Given the description of an element on the screen output the (x, y) to click on. 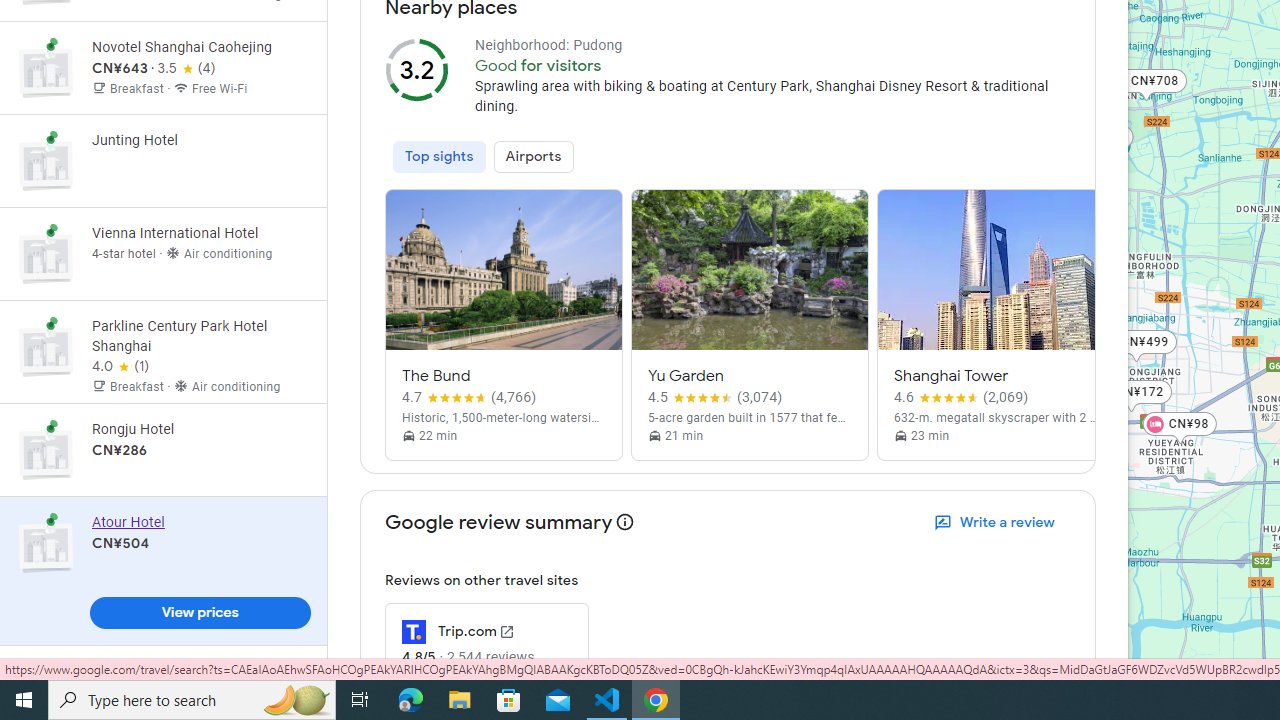
4.5 out of 5 stars from 3,074 reviews (715, 398)
View prices for Vienna International Hotel (200, 323)
4 out of 5 stars from 1 reviews (120, 367)
Junting Hotel (163, 161)
Top sights (439, 156)
View prices for Parkline Century Park Hotel Shanghai (200, 426)
3.2 out of 5 (416, 69)
View prices for Z Hotel (200, 44)
View prices for Atour Hotel (200, 616)
Write a review (996, 522)
